Given the description of an element on the screen output the (x, y) to click on. 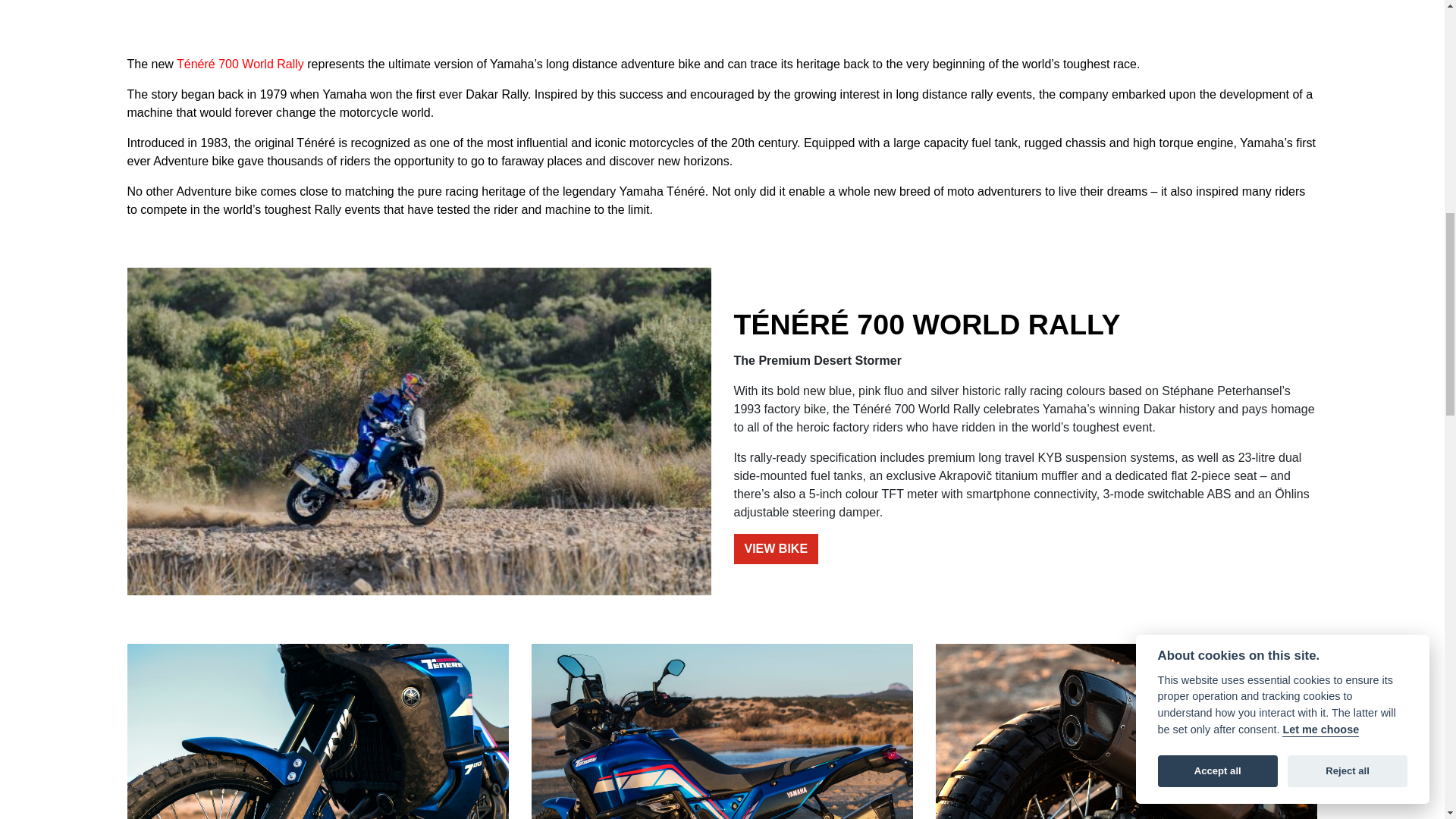
VIEW BIKE (775, 548)
